Given the description of an element on the screen output the (x, y) to click on. 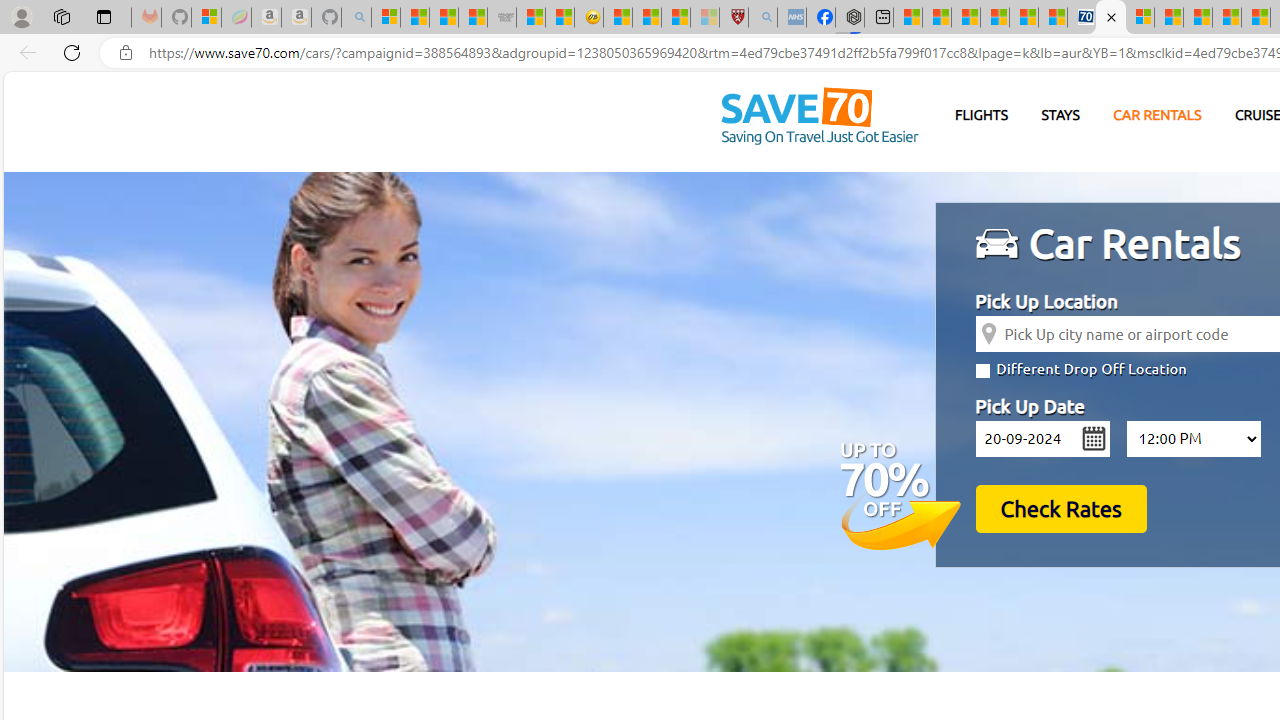
CAR RENTALS (1157, 115)
12 Popular Science Lies that Must be Corrected - Sleeping (705, 17)
FLIGHTS (981, 115)
mm/dd/yy (1042, 438)
